Given the description of an element on the screen output the (x, y) to click on. 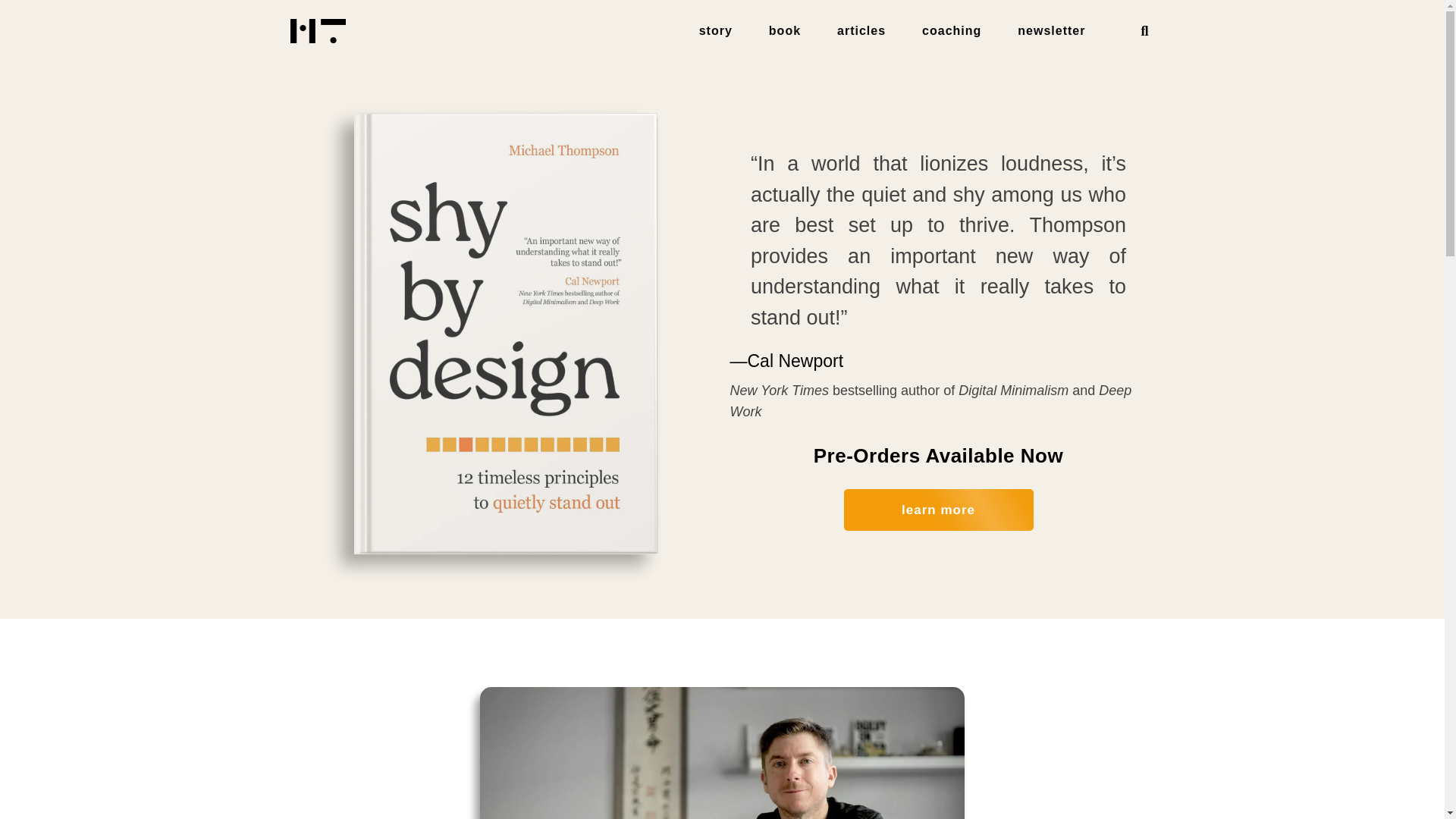
learn more (937, 524)
book (784, 30)
coaching (951, 30)
articles (860, 30)
story (715, 30)
newsletter (1051, 30)
